Given the description of an element on the screen output the (x, y) to click on. 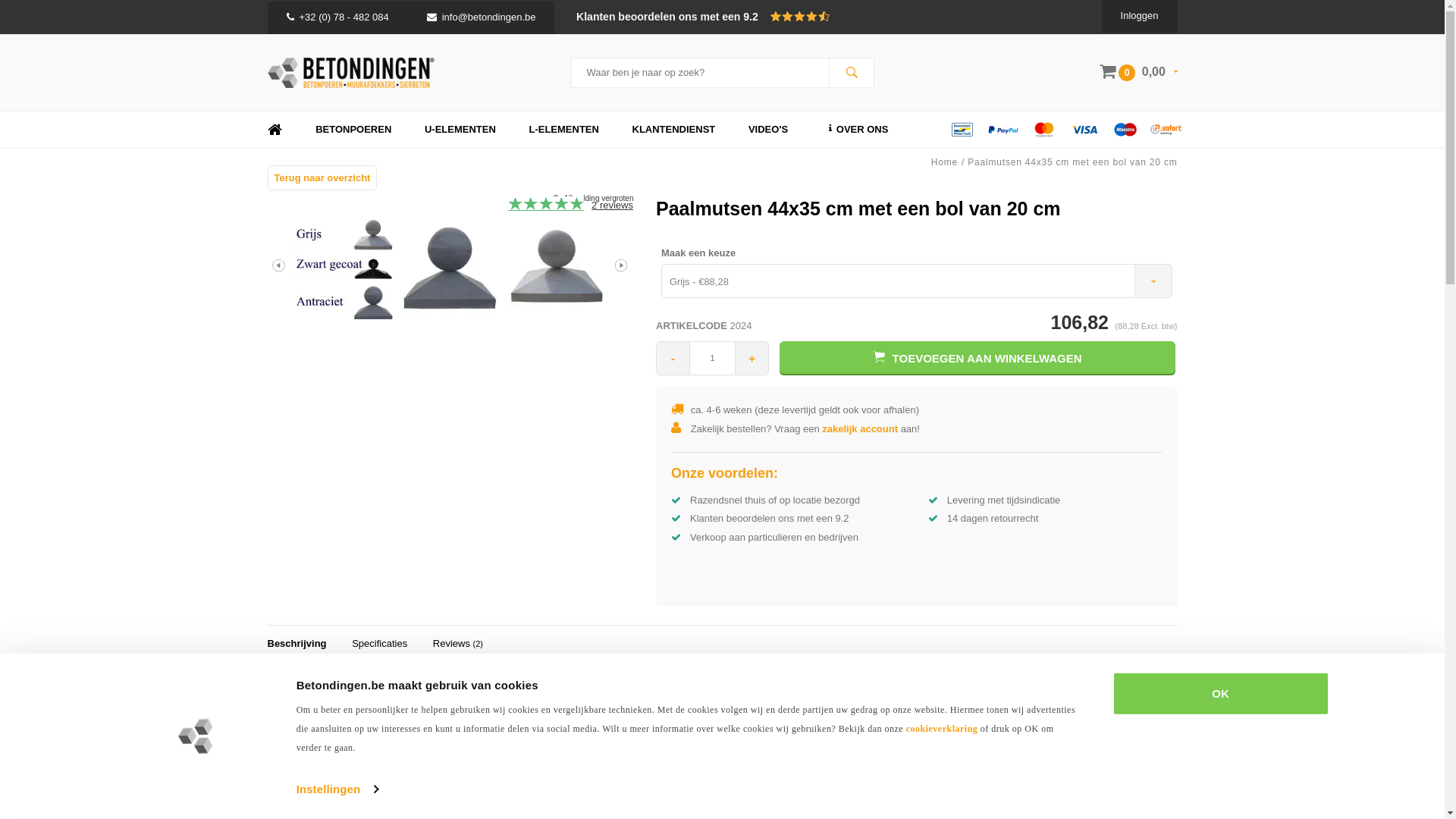
L-ELEMENTEN Element type: text (563, 129)
TOEVOEGEN AAN WINKELWAGEN Element type: text (977, 358)
KLANTENDIENST Element type: text (674, 129)
OK Element type: text (1219, 693)
+32 (0) 78 - 482 084 Element type: text (337, 16)
(88,28 Excl. btw) Element type: text (1144, 325)
Zoeken Element type: hover (850, 72)
Reviews (2) Element type: text (458, 643)
cookieverklaring Element type: text (942, 728)
Instellingen Element type: text (337, 789)
BETONPOEREN Element type: text (353, 129)
2 reviews Element type: text (612, 205)
Home Element type: text (944, 162)
- Element type: text (672, 358)
9.2 Element type: text (750, 16)
HOME Element type: text (274, 129)
Beschrijving Element type: text (296, 643)
+ Element type: text (751, 358)
Afbeelding vergroten Element type: text (598, 198)
Inloggen Element type: text (1139, 15)
U-ELEMENTEN Element type: text (460, 129)
info@betondingen.be Element type: text (481, 16)
OVER ONS Element type: text (854, 129)
Paalmutsen 44x35 cm met een bol van 20 cm Element type: text (1071, 162)
Terug naar overzicht Element type: text (321, 177)
zakelijk account Element type: text (859, 428)
VIDEO'S Element type: text (768, 129)
Specificaties Element type: text (379, 643)
0 0,00 Element type: text (1137, 71)
